Given the description of an element on the screen output the (x, y) to click on. 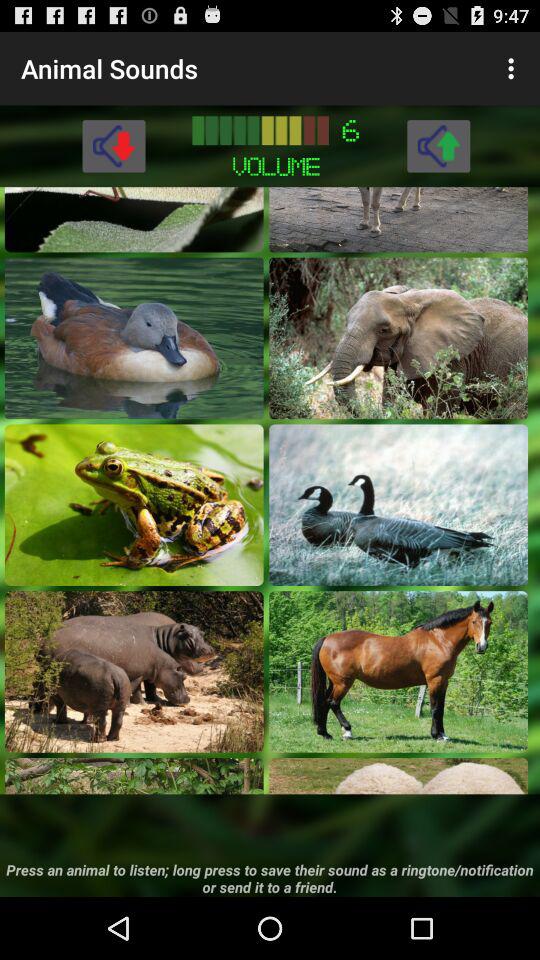
listen to elephant noise (398, 337)
